Given the description of an element on the screen output the (x, y) to click on. 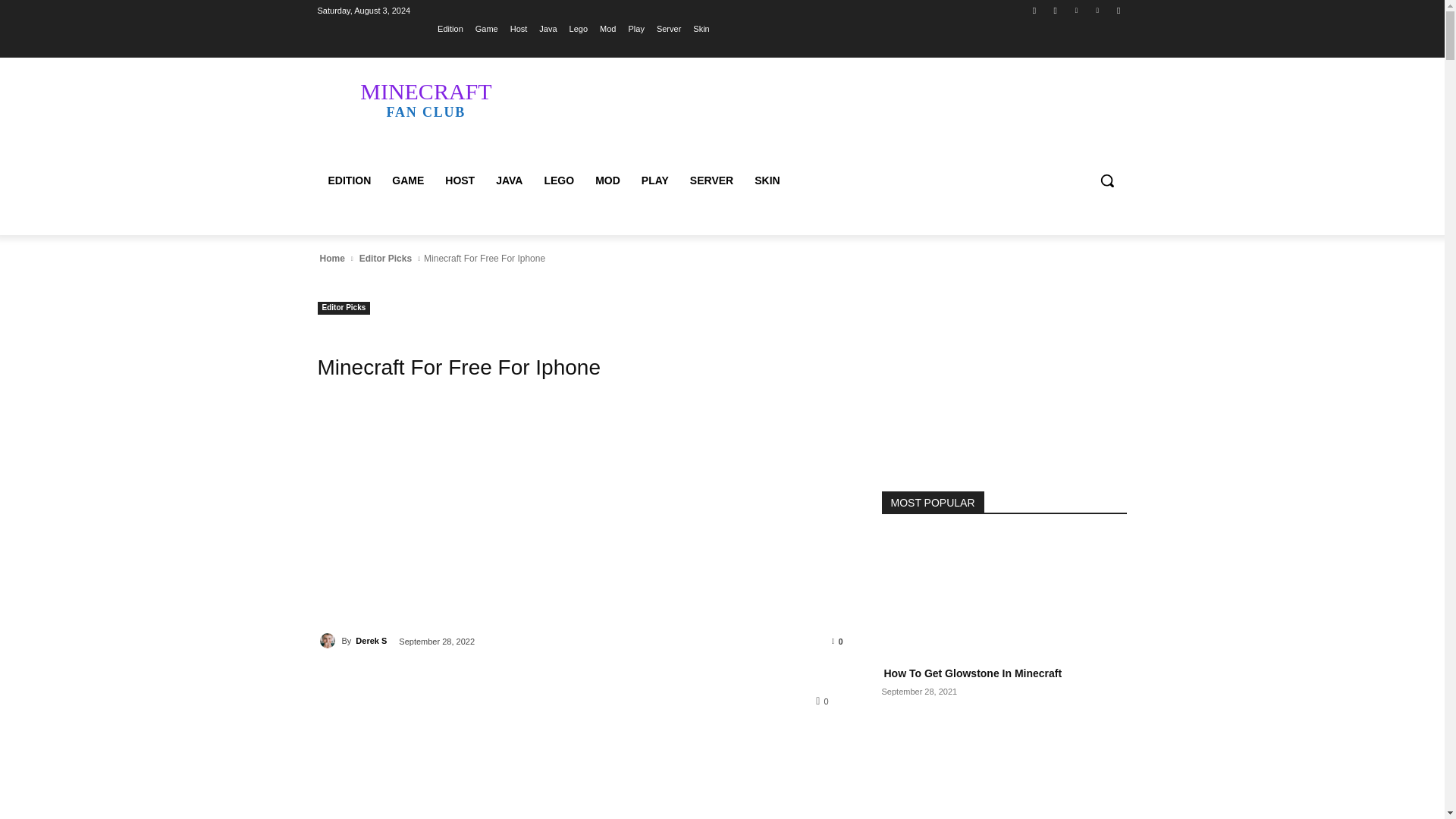
EDITION (349, 180)
Twitter (425, 98)
HOST (1075, 9)
GAME (458, 180)
View all posts in Editor Picks (407, 180)
Vimeo (384, 258)
MOD (1097, 9)
Youtube (607, 180)
Game (1117, 9)
JAVA (486, 28)
LEGO (508, 180)
Instagram (558, 180)
Derek S (1055, 9)
Edition (328, 640)
